Given the description of an element on the screen output the (x, y) to click on. 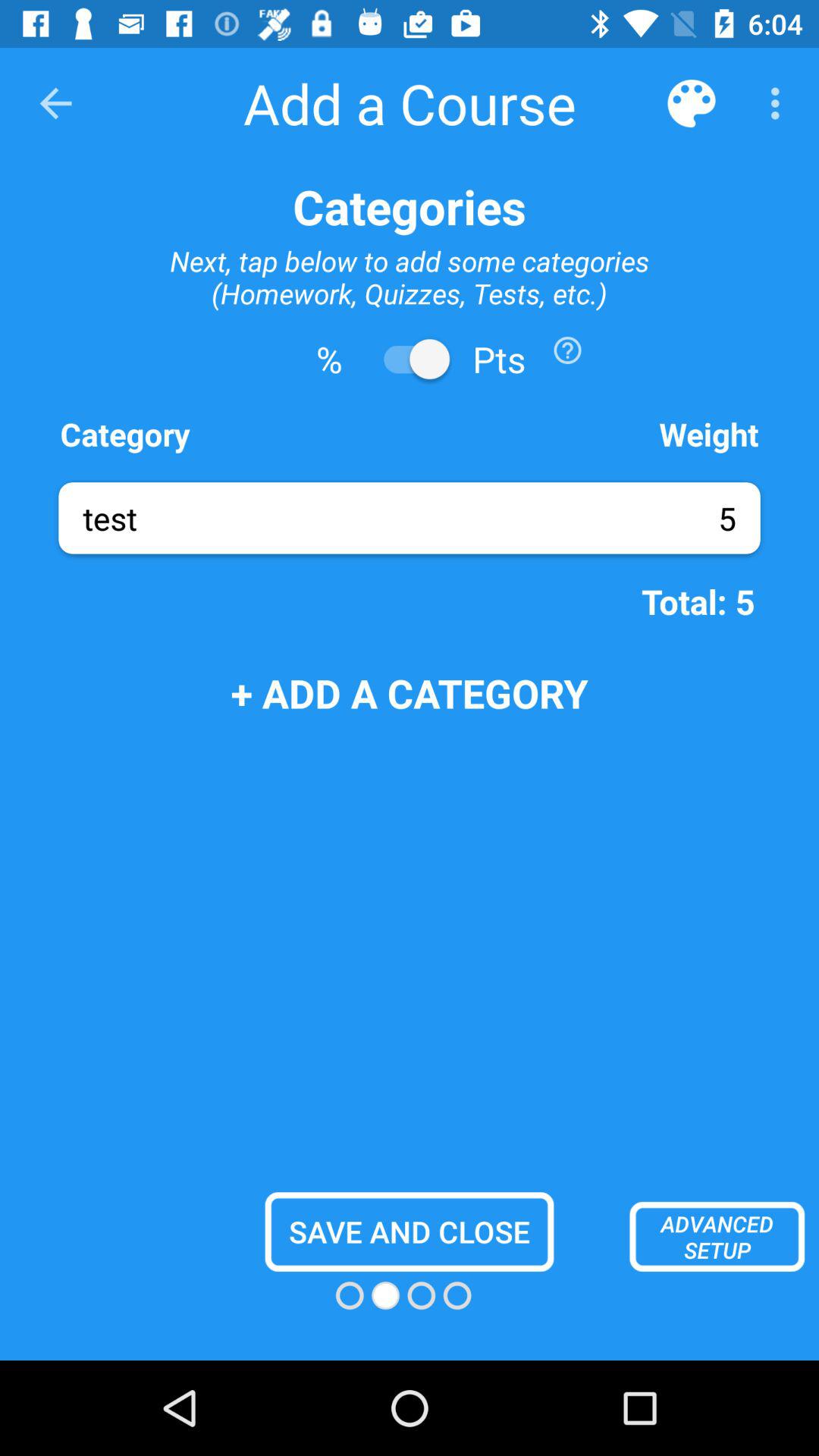
toggle to pts option (409, 359)
